Given the description of an element on the screen output the (x, y) to click on. 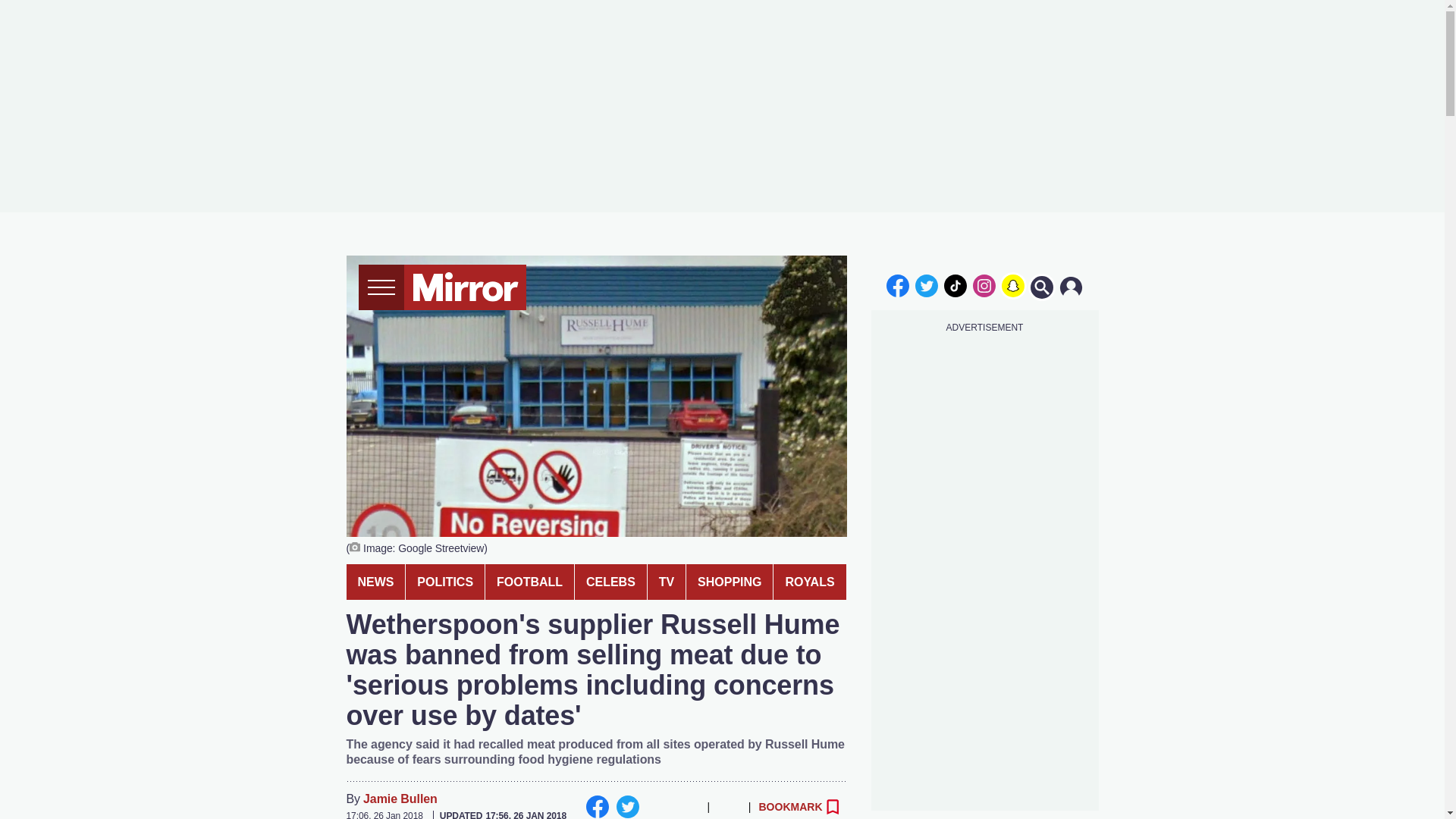
tiktok (955, 285)
snapchat (1012, 285)
FOOTBALL (528, 581)
Facebook (596, 806)
CELEBS (610, 581)
facebook (897, 285)
POLITICS (445, 581)
Twitter (627, 806)
twitter (926, 285)
instagram (984, 285)
NEWS (375, 581)
